Given the description of an element on the screen output the (x, y) to click on. 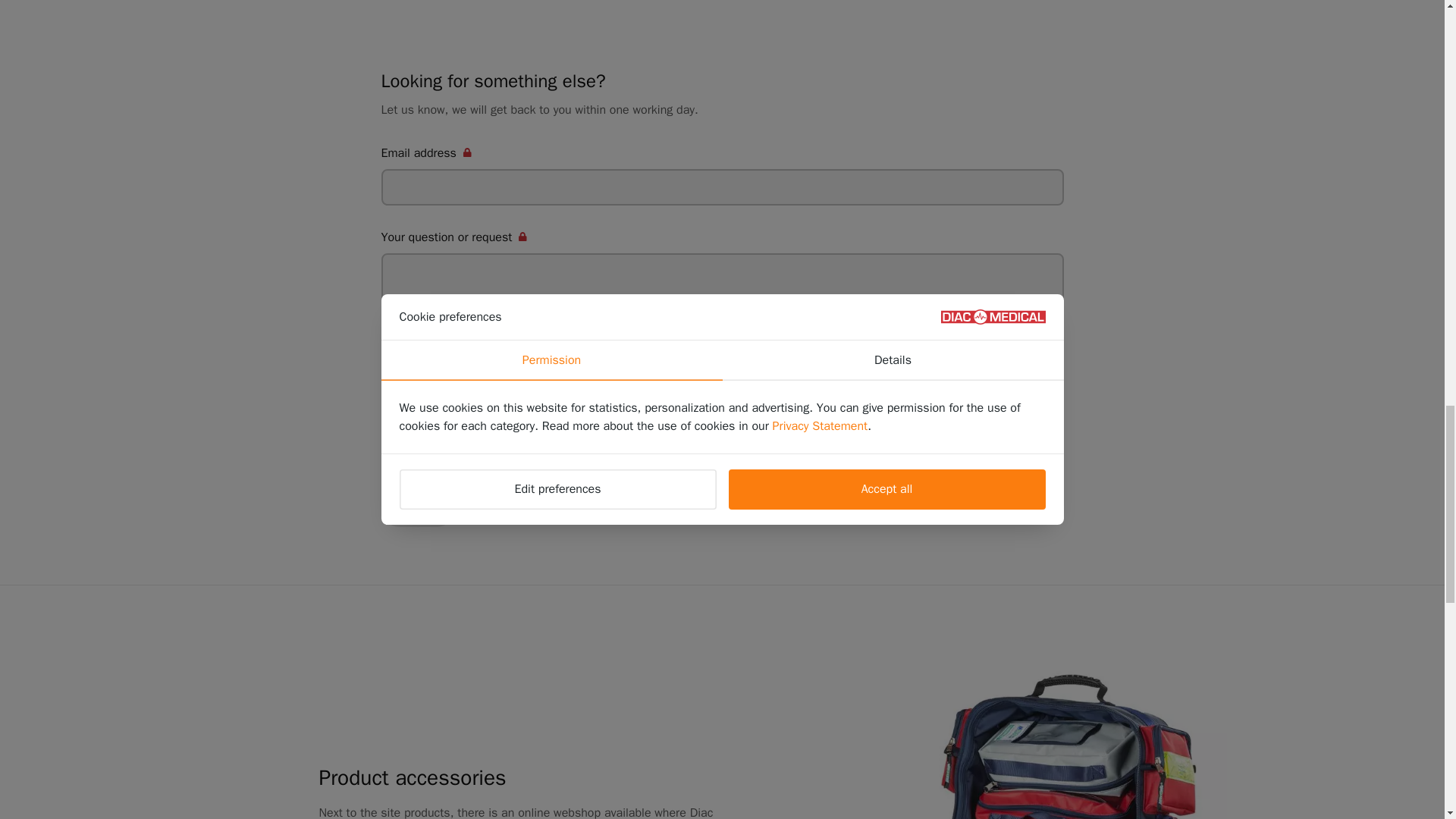
Submit (417, 508)
